Given the description of an element on the screen output the (x, y) to click on. 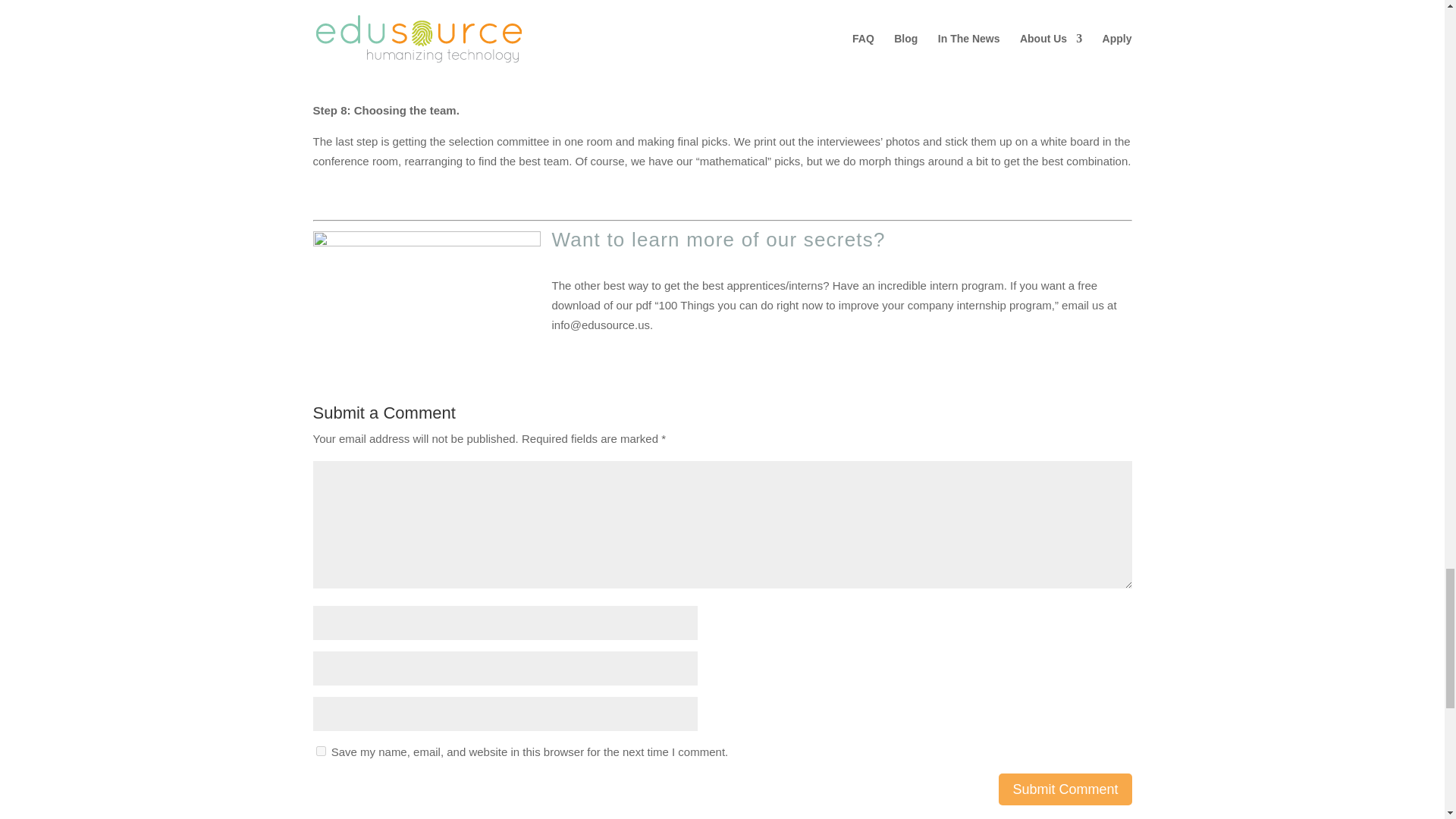
Submit Comment (1064, 788)
yes (319, 750)
Submit Comment (1064, 788)
